Given the description of an element on the screen output the (x, y) to click on. 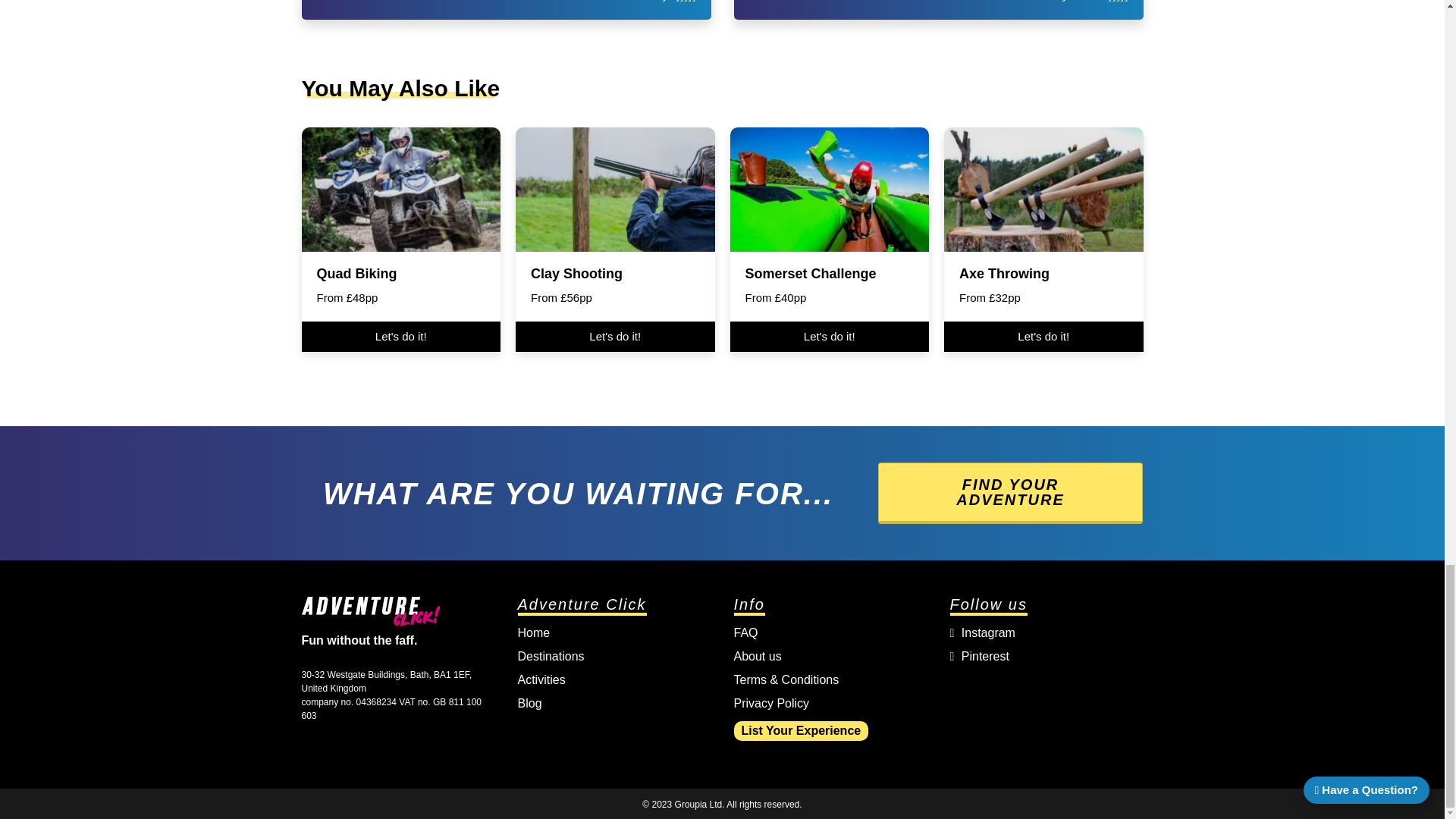
Clay Shooting (577, 273)
Let's do it! (1042, 336)
Axe Throwing (1004, 273)
Let's do it! (400, 336)
Let's do it! (614, 336)
Quad Biking (357, 273)
Somerset Challenge (810, 273)
Let's do it! (828, 336)
